Given the description of an element on the screen output the (x, y) to click on. 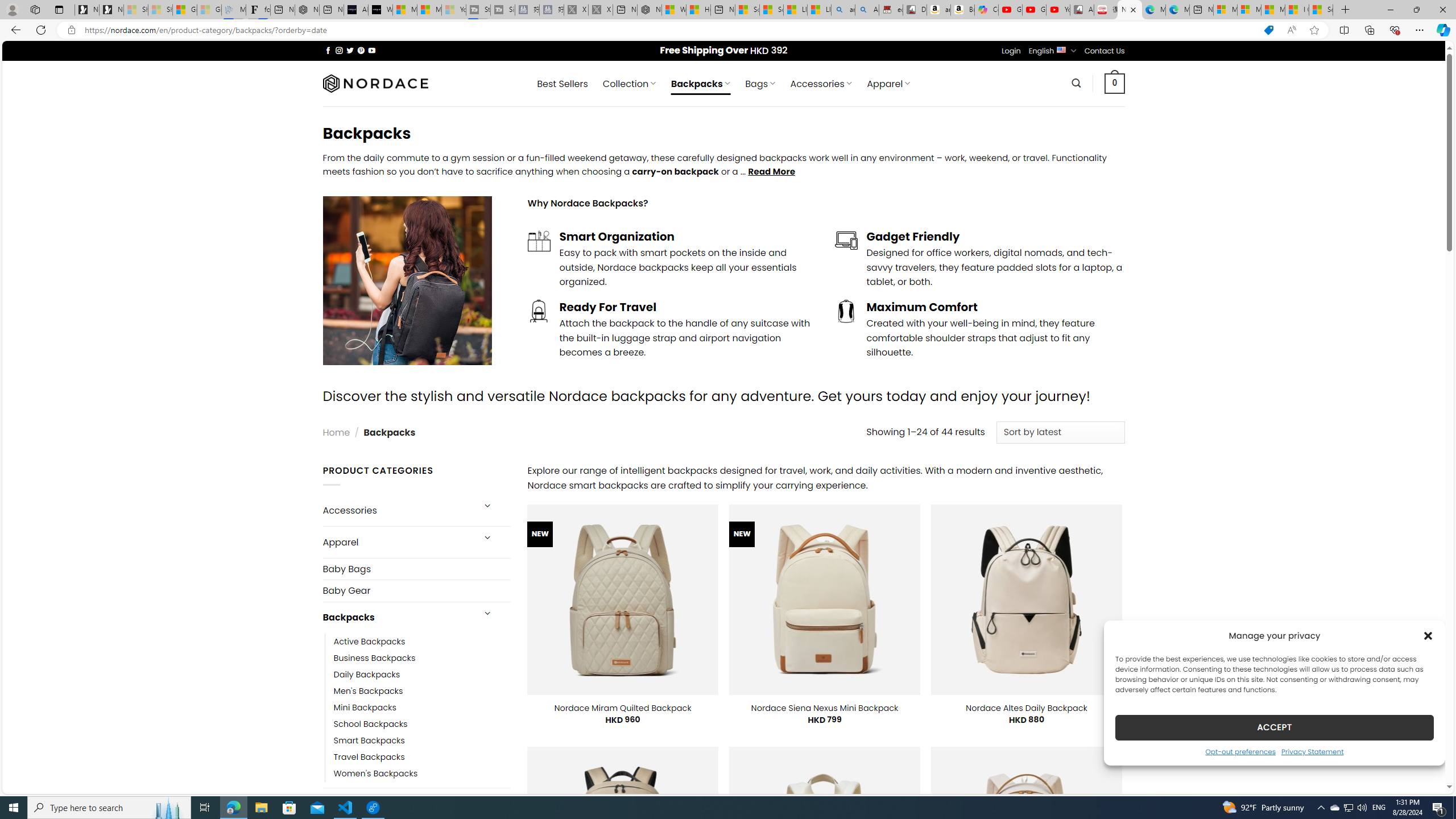
Travel Backpacks (368, 756)
amazon.in/dp/B0CX59H5W7/?tag=gsmcom05-21 (938, 9)
Business Backpacks (374, 657)
Follow on Pinterest (360, 49)
Women's Backpacks (375, 773)
Opt-out preferences (1240, 750)
Contact Us (1104, 50)
Shop order (1060, 432)
  0   (1115, 83)
Active Backpacks (422, 641)
Mini Backpacks (422, 706)
